Given the description of an element on the screen output the (x, y) to click on. 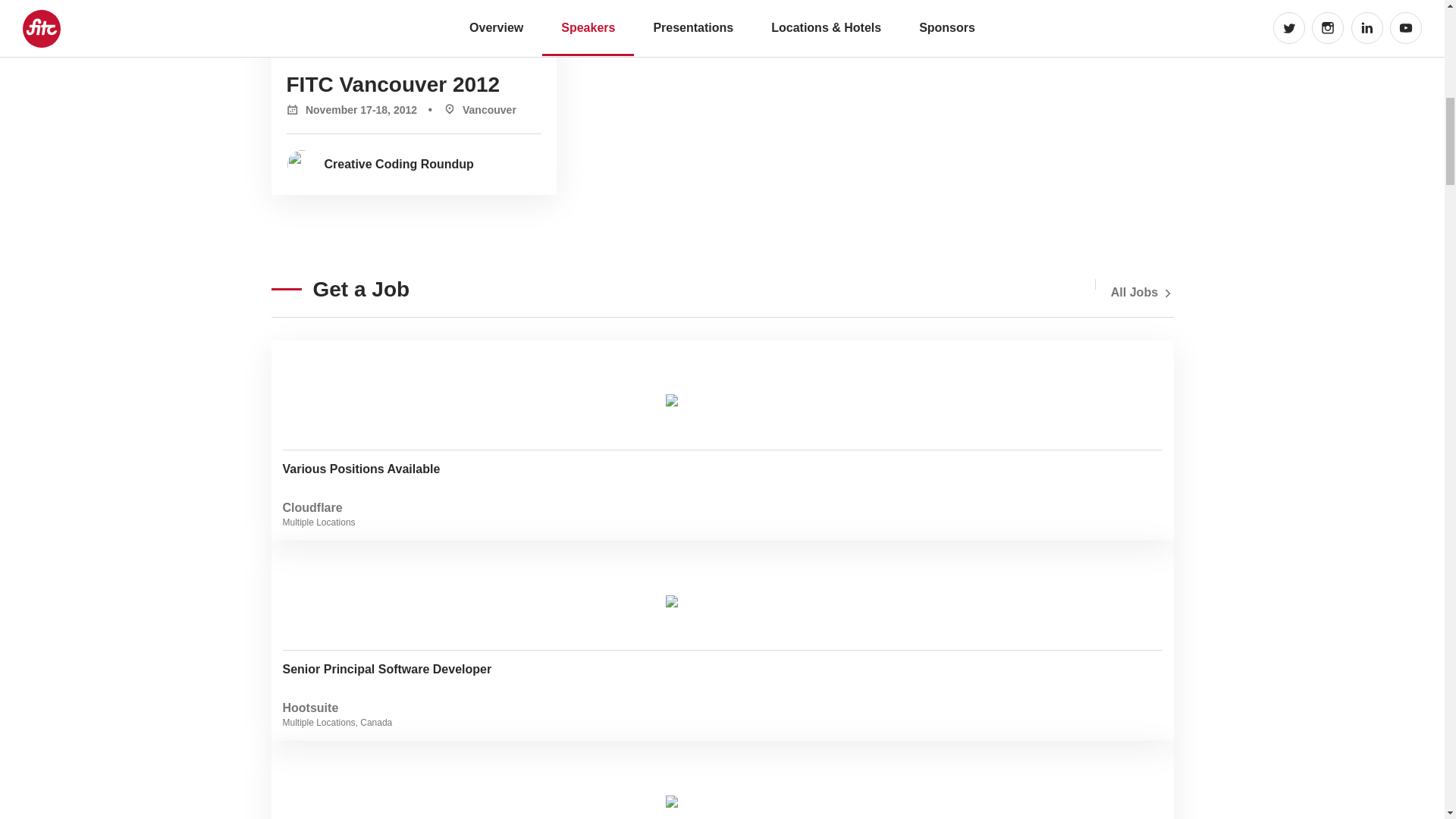
Vancouver (467, 109)
FITC Vancouver 2012 (393, 84)
All Jobs (406, 164)
